Given the description of an element on the screen output the (x, y) to click on. 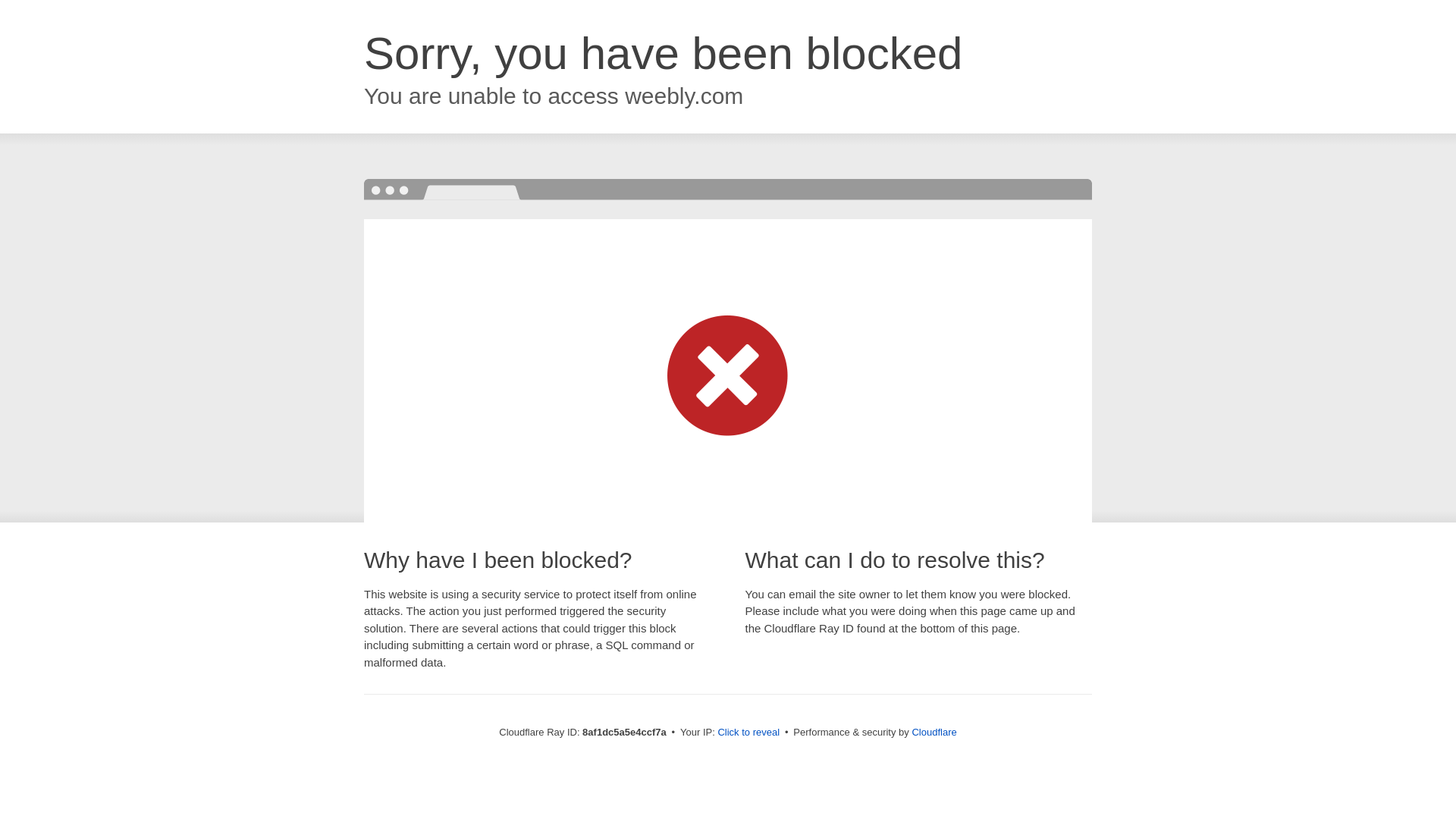
Click to reveal (747, 732)
Cloudflare (933, 731)
